Given the description of an element on the screen output the (x, y) to click on. 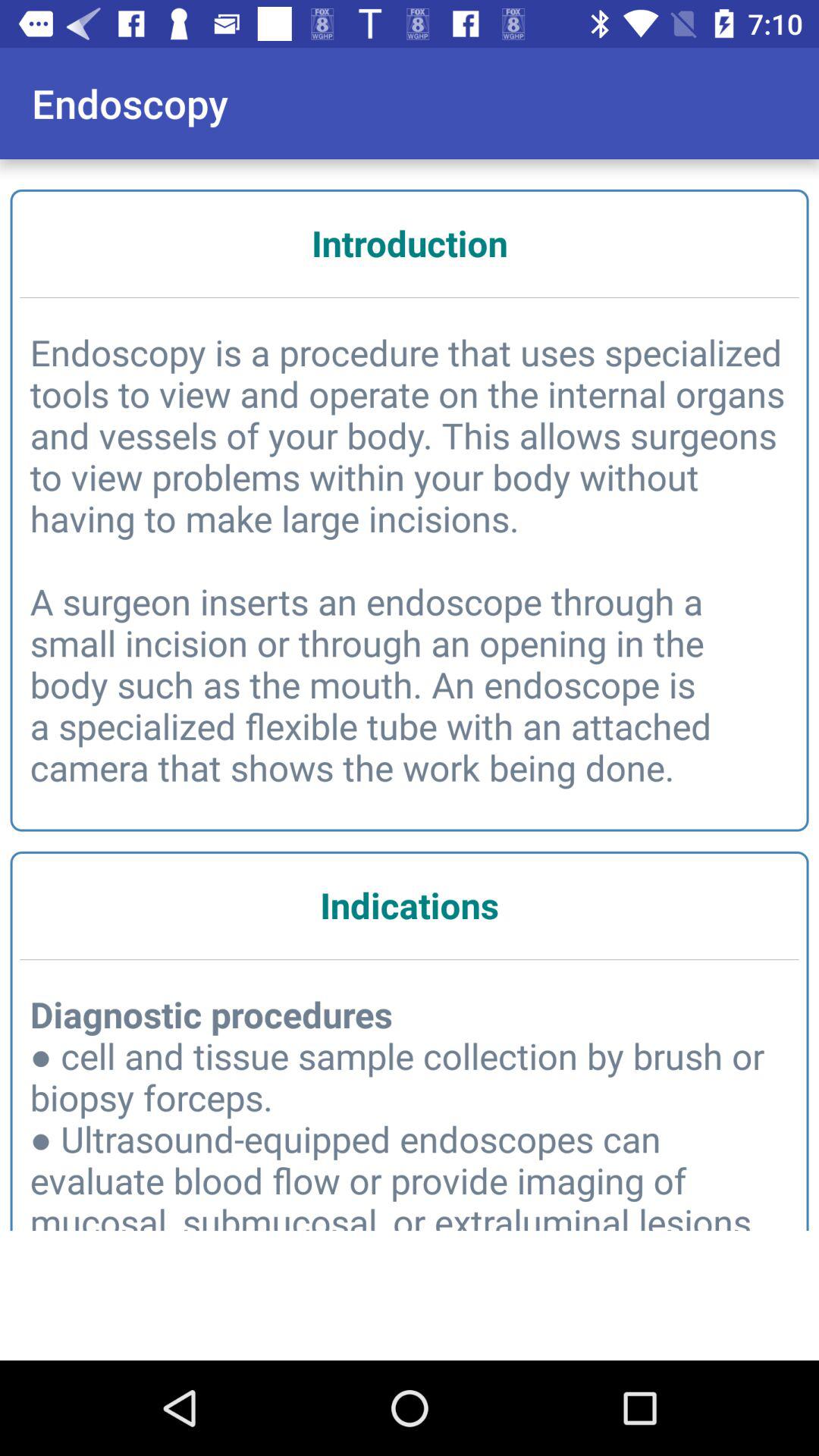
turn on the indications (409, 904)
